Given the description of an element on the screen output the (x, y) to click on. 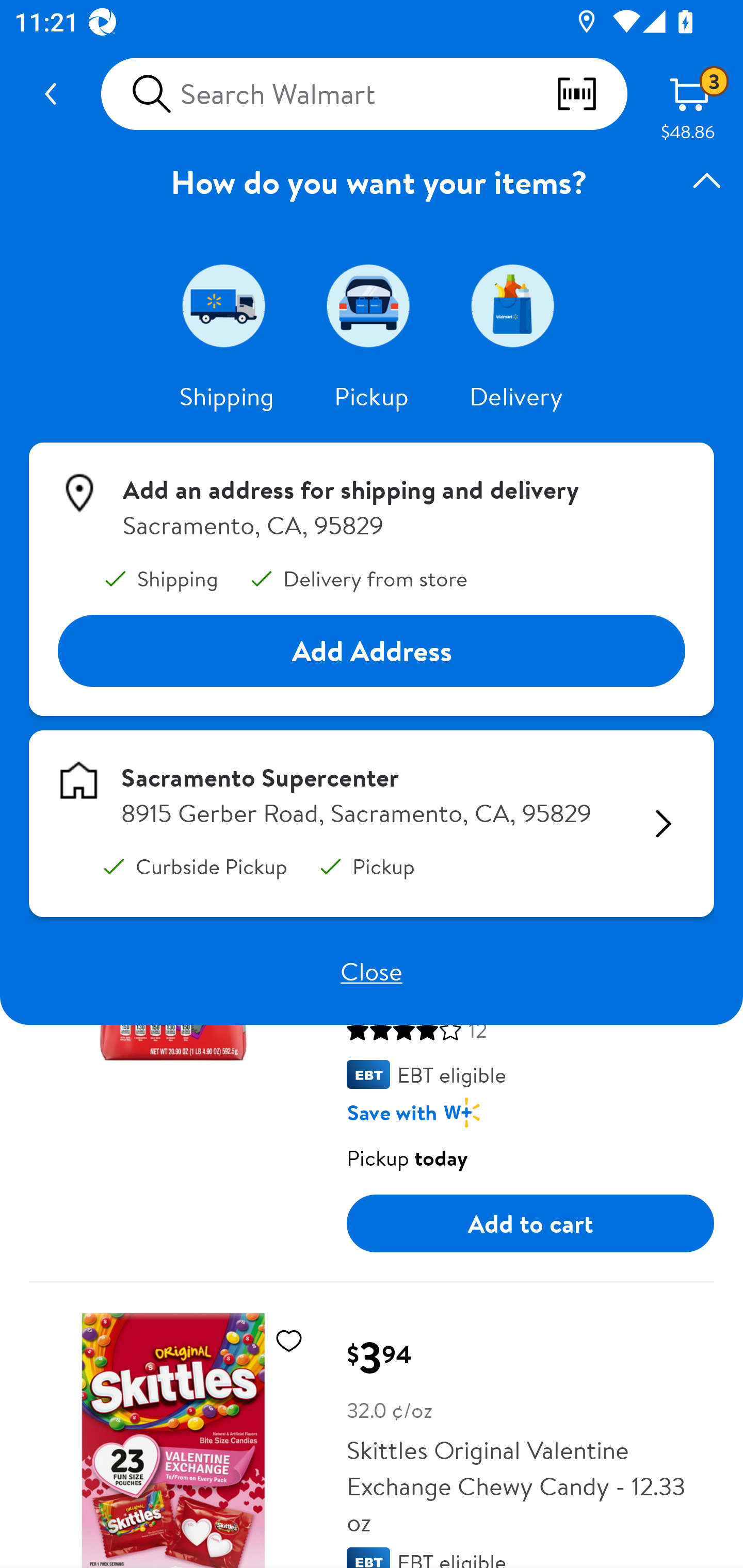
Navigate up (50, 93)
Search Walmart scan barcodes qr codes and more (364, 94)
scan barcodes qr codes and more (591, 94)
How do you want your items? expanded (371, 181)
Shipping 1 of 3 (226, 305)
Pickup 2 of 3 (371, 305)
Delivery 3 of 3 (515, 305)
Add Address (371, 650)
Close (371, 970)
Add to cart (530, 1223)
